Given the description of an element on the screen output the (x, y) to click on. 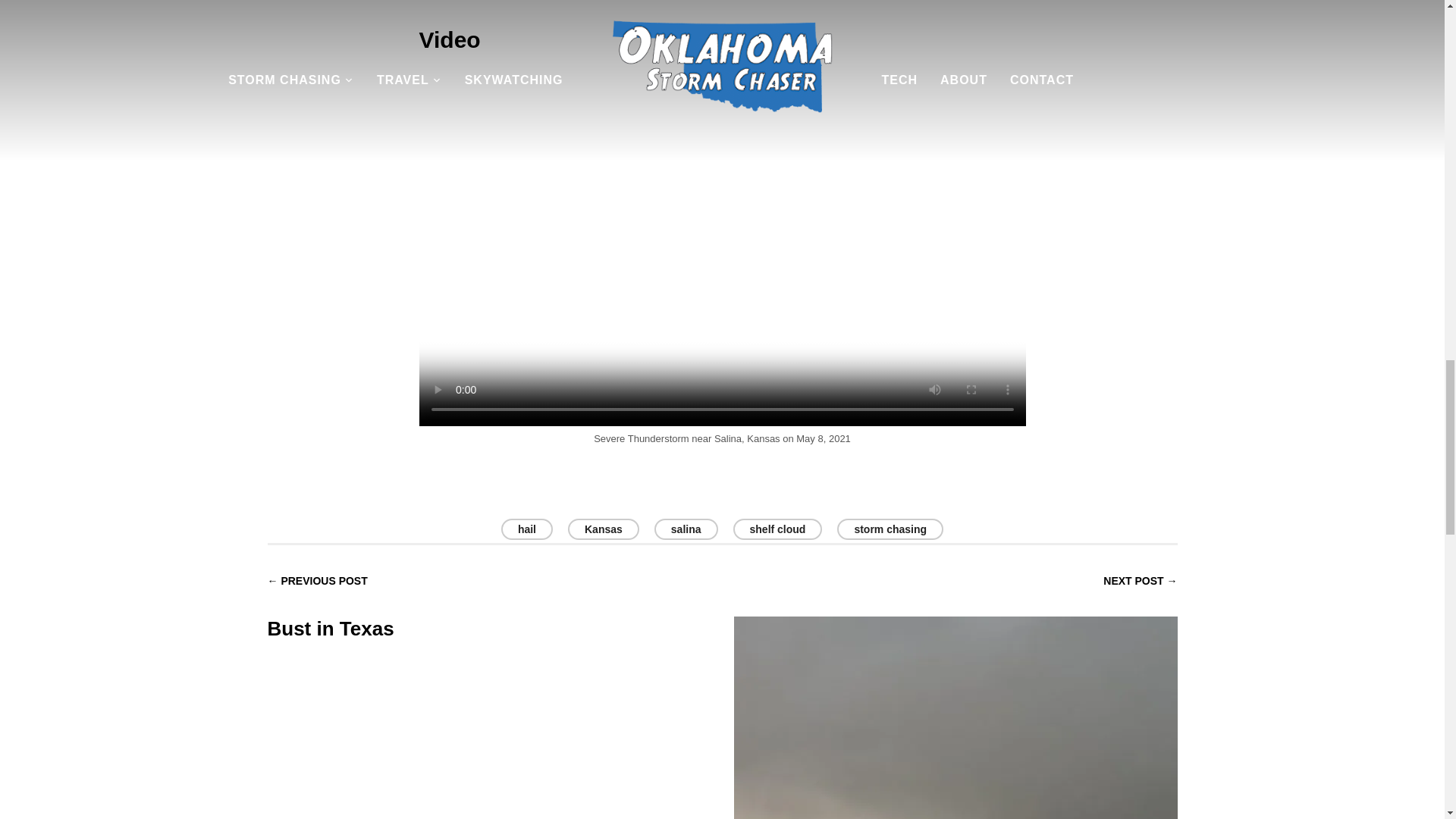
storm chasing (890, 528)
shelf cloud (777, 528)
salina (685, 528)
Kansas (603, 528)
Supercells along the Red River (955, 697)
hail (526, 528)
